Given the description of an element on the screen output the (x, y) to click on. 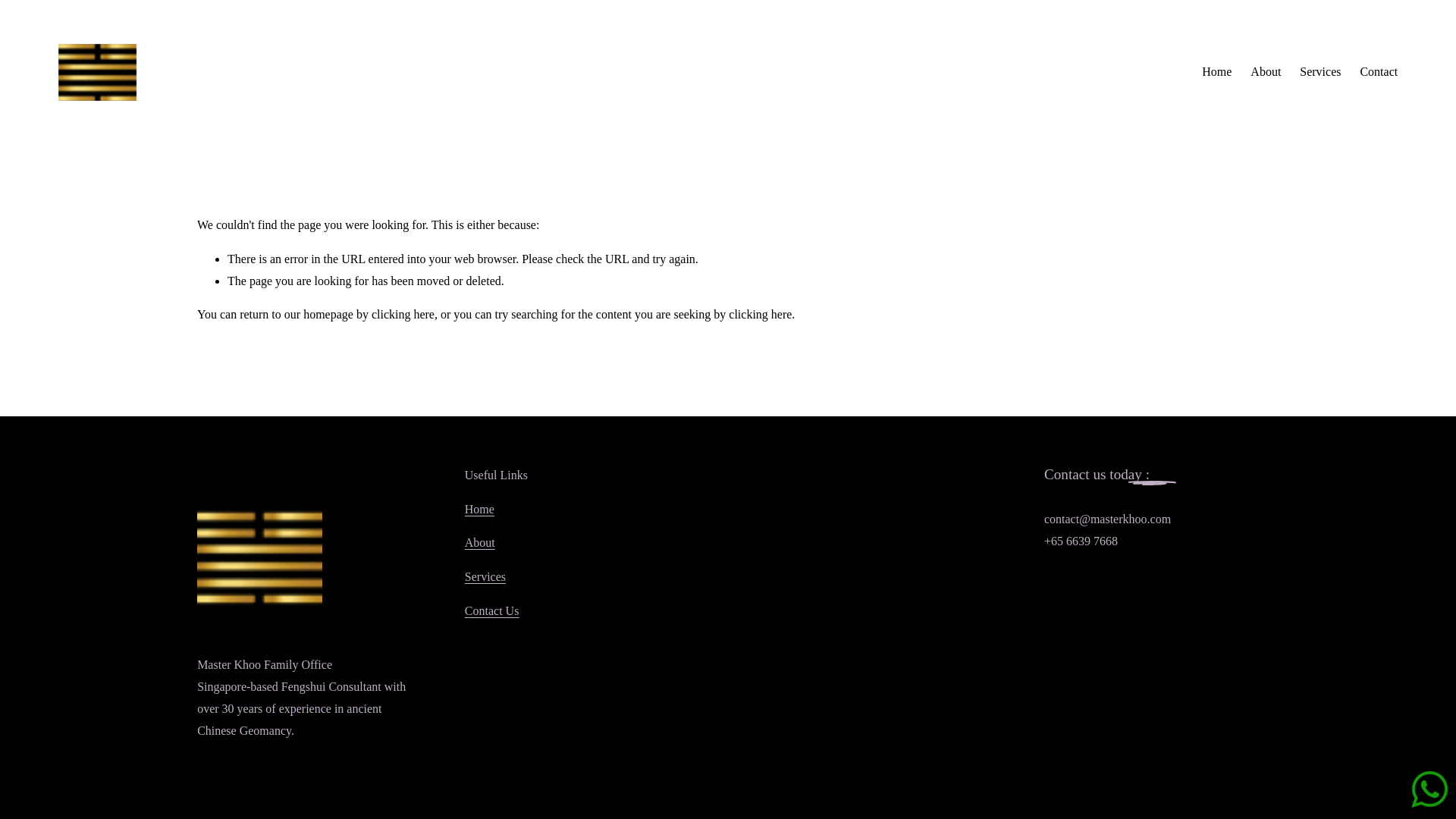
Home (1216, 71)
Contact (1378, 71)
clicking here (402, 314)
Home (479, 509)
Contact Us (491, 611)
Services (1320, 71)
About (1265, 71)
clicking here (760, 314)
About (479, 543)
Services (484, 577)
